Given the description of an element on the screen output the (x, y) to click on. 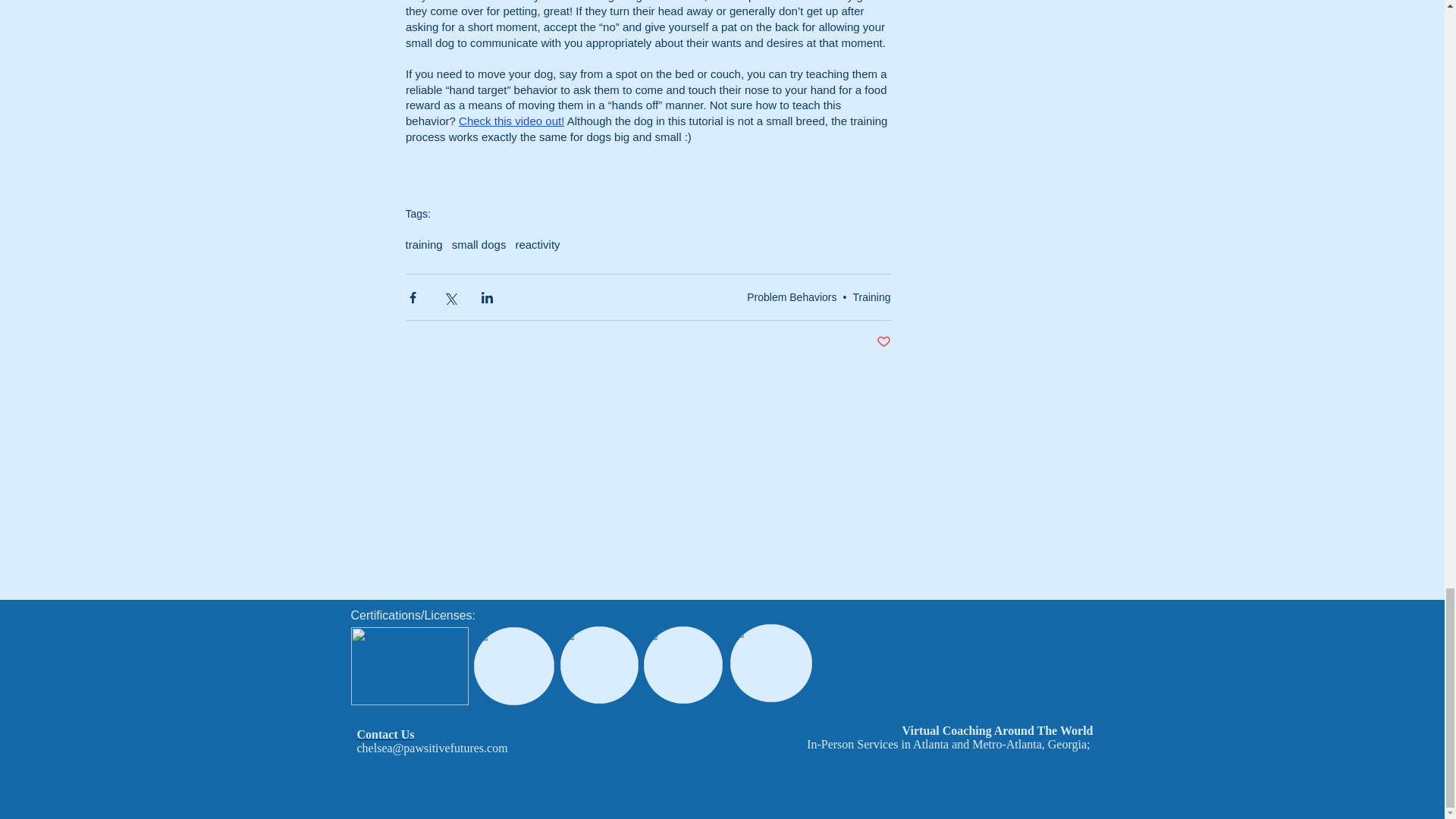
reactivity (537, 244)
CGC-logo.png (682, 664)
training (423, 244)
Check this video out! (511, 120)
AKC-start-puppy-logo.png (598, 664)
akc-community-canine-logo.png (769, 662)
small dogs (478, 244)
